Given the description of an element on the screen output the (x, y) to click on. 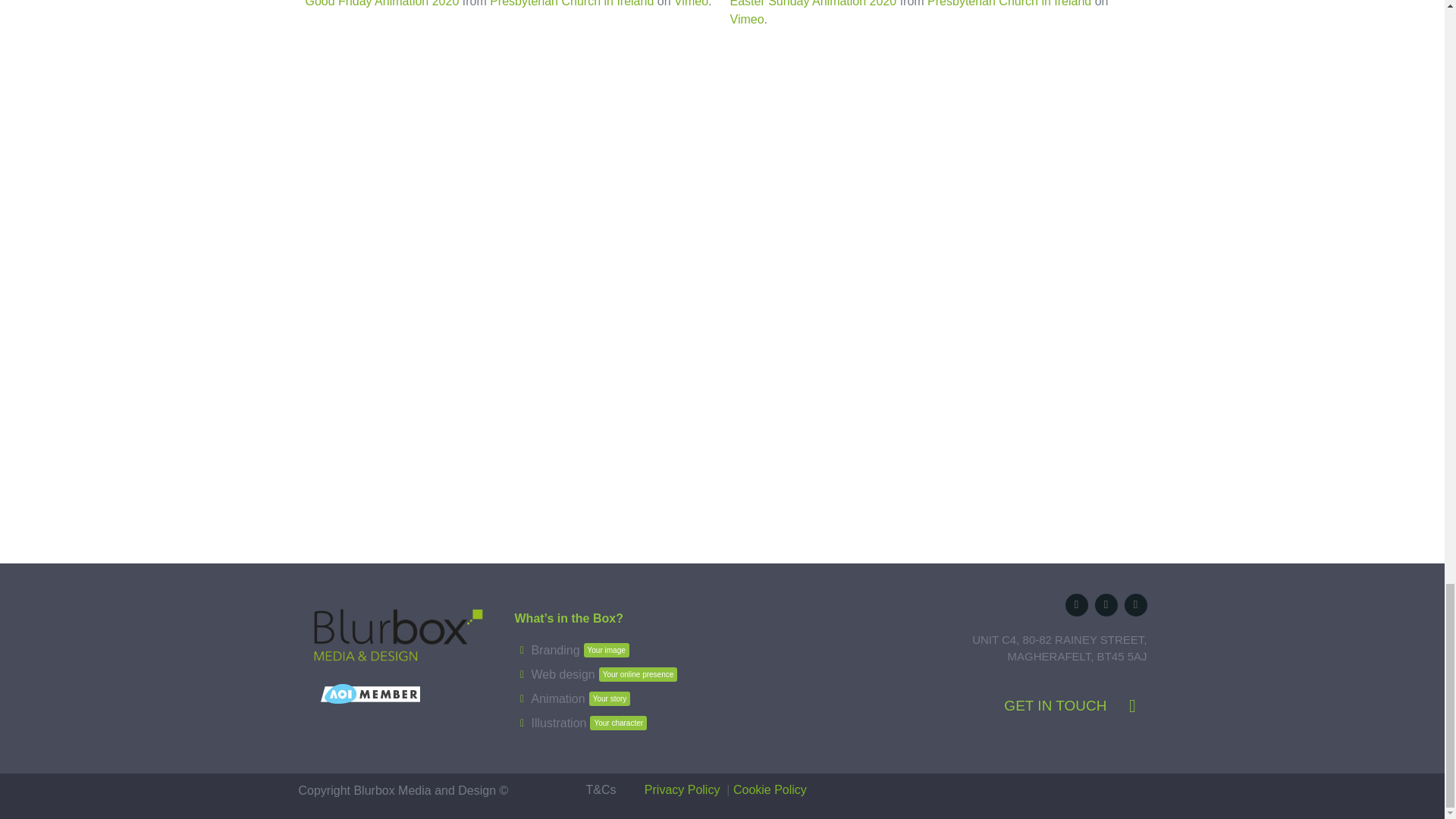
Presbyterian Church in Ireland (572, 650)
Vimeo (571, 3)
Good Friday Animation 2020 (690, 3)
Vimeo (381, 3)
Easter Sunday Animation 2020 (745, 19)
BT45 5AJ (812, 3)
Presbyterian Church in Ireland (829, 667)
